Given the description of an element on the screen output the (x, y) to click on. 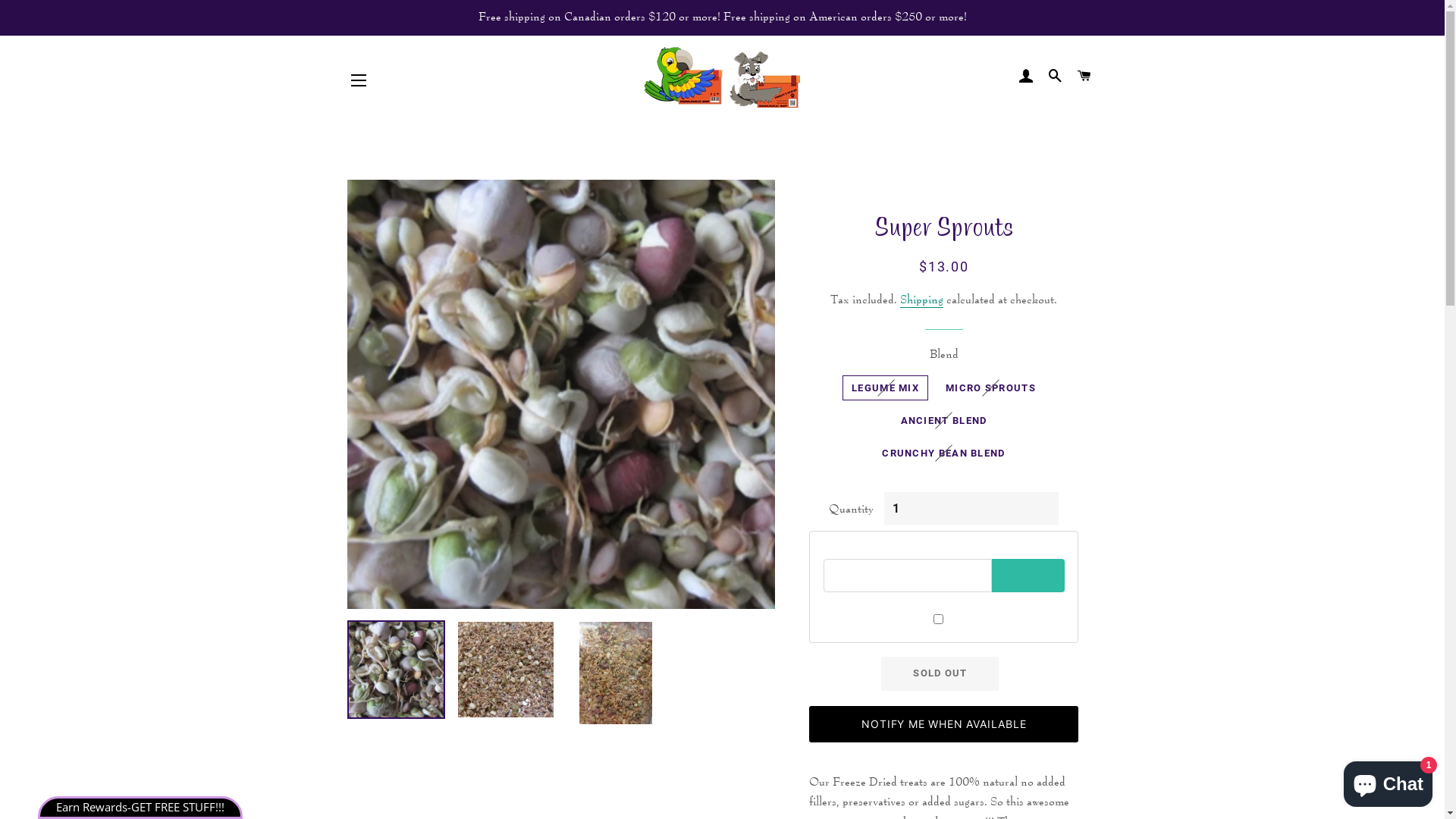
SOLD OUT Element type: text (939, 673)
SEARCH Element type: text (1055, 76)
NOTIFY ME WHEN AVAILABLE Element type: text (943, 724)
CART Element type: text (1084, 76)
LOG IN Element type: text (1025, 76)
SITE NAVIGATION Element type: text (358, 80)
Shipping Element type: text (921, 299)
Shopify online store chat Element type: hover (1388, 780)
